Given the description of an element on the screen output the (x, y) to click on. 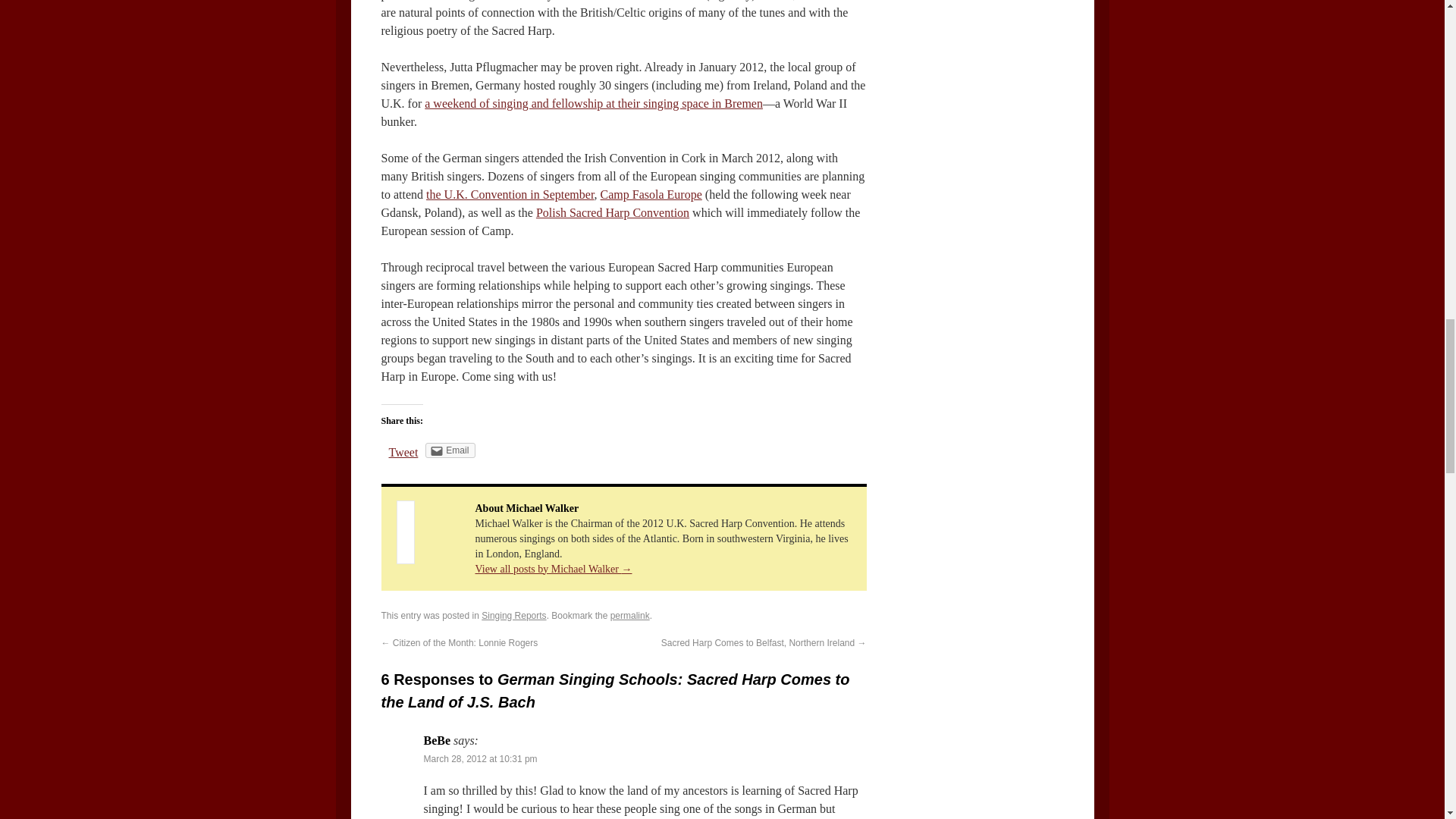
Click to email this to a friend (450, 450)
